Given the description of an element on the screen output the (x, y) to click on. 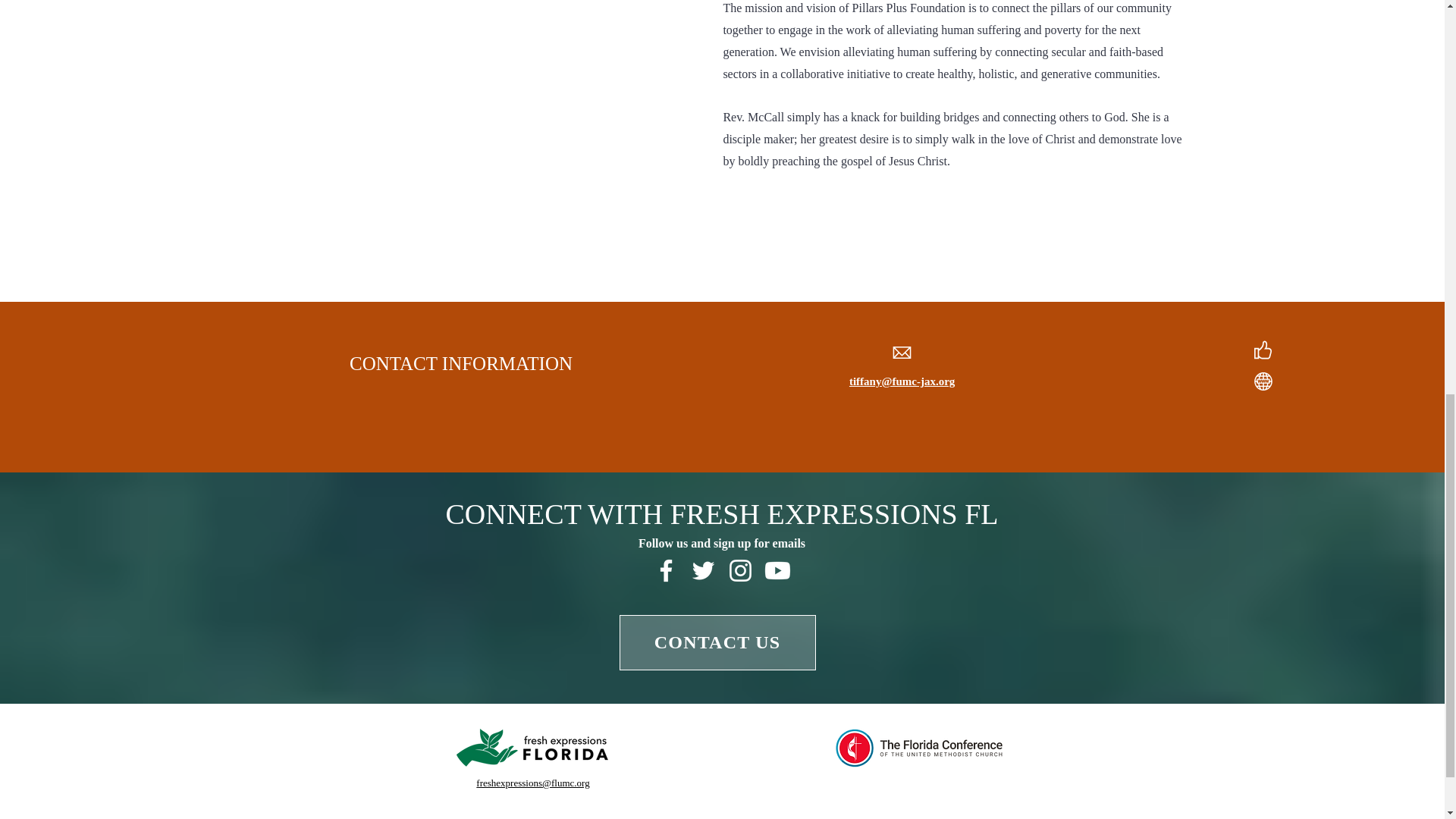
HOME (448, 817)
CONTACT US (716, 642)
